Given the description of an element on the screen output the (x, y) to click on. 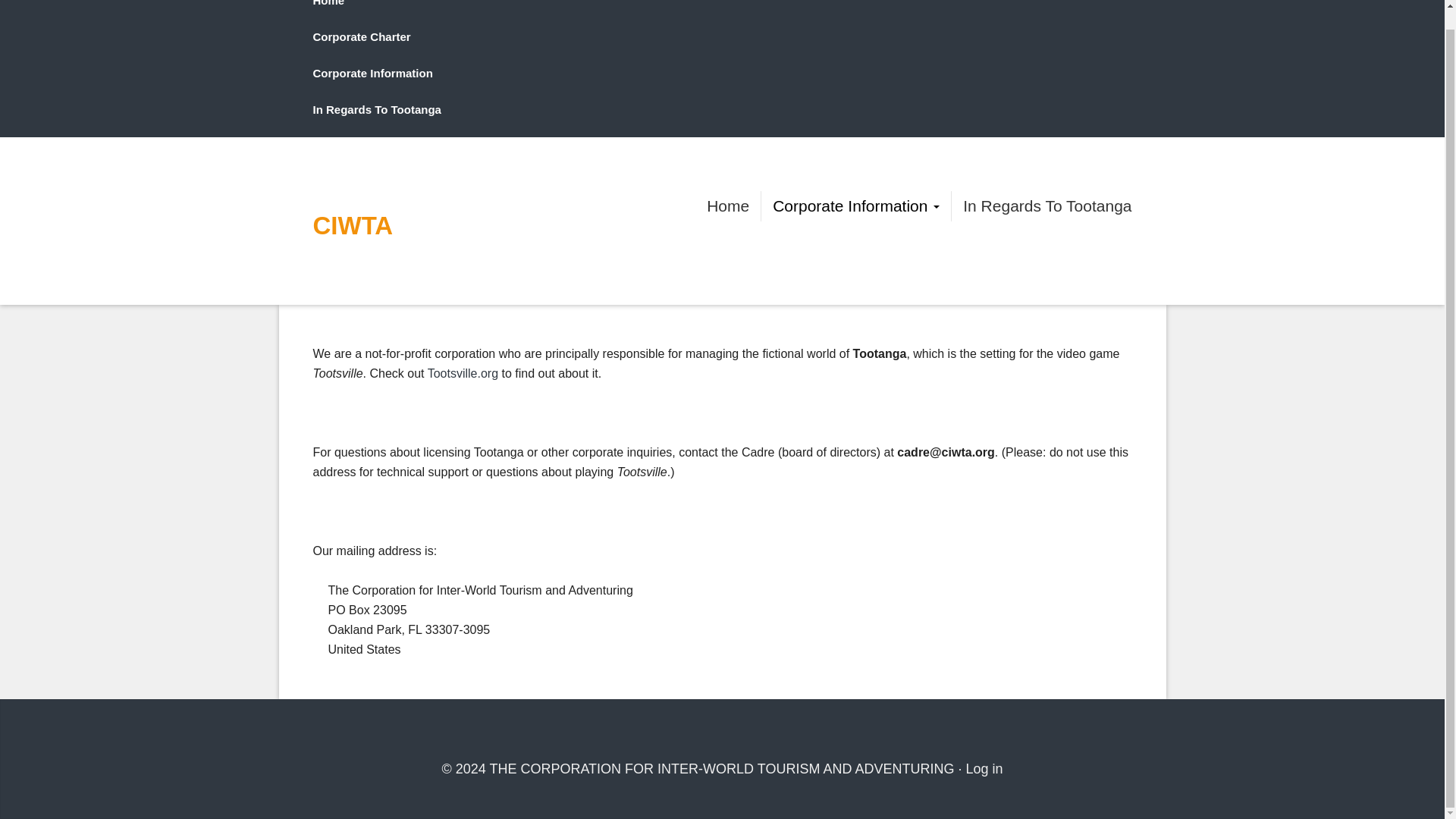
Corporate Information (855, 205)
Home (328, 3)
Corporate Information (372, 72)
Log in (984, 768)
In Regards To Tootanga (1046, 205)
Home (727, 205)
Corporate Charter (361, 36)
In Regards To Tootanga (377, 109)
Tootsville.org (462, 373)
